Given the description of an element on the screen output the (x, y) to click on. 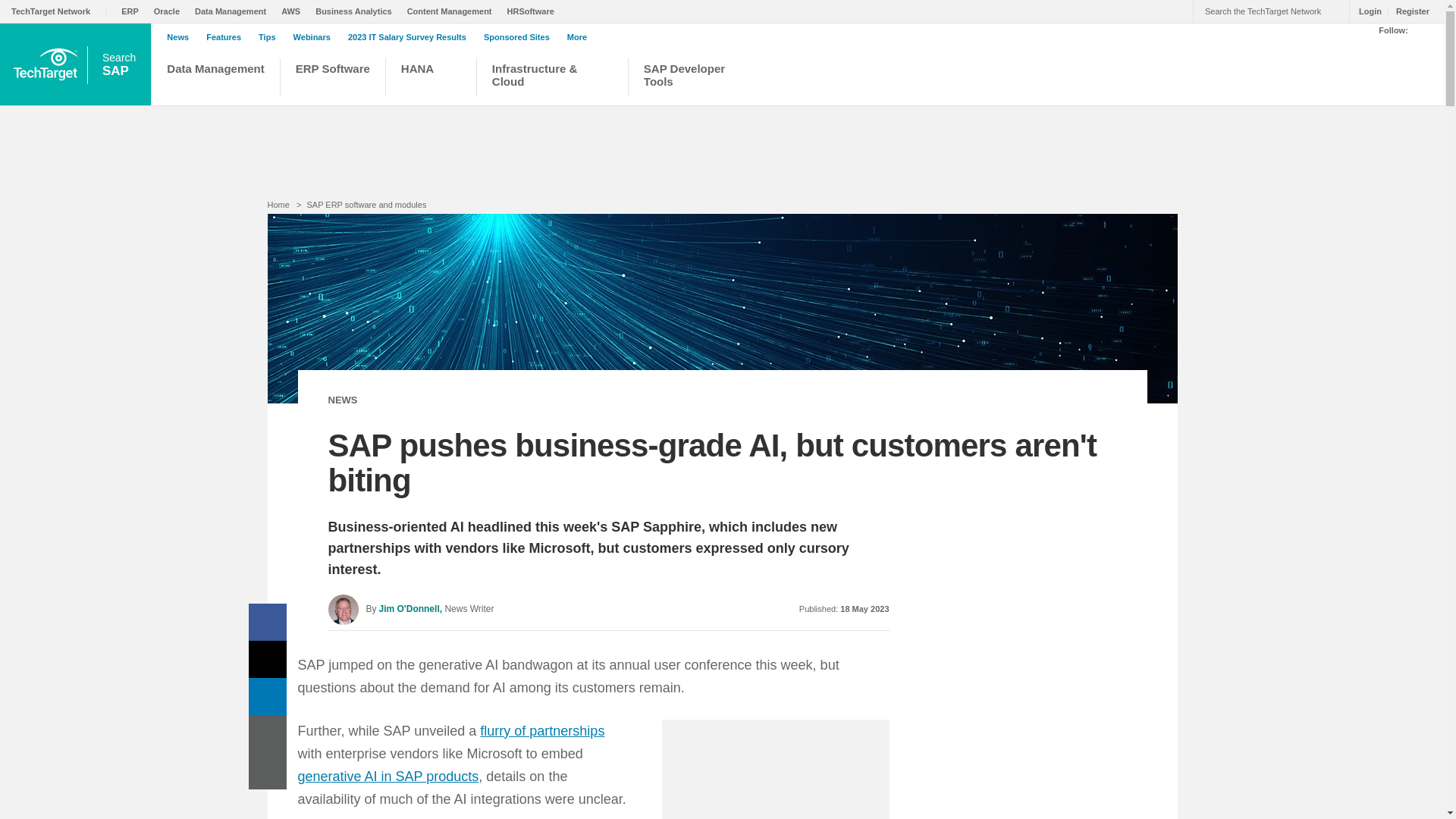
Share on X (267, 659)
HANA (431, 79)
HRSoftware (534, 10)
TechTarget Network (58, 10)
SAP Developer Tools (684, 79)
Content Management (453, 10)
Register (1408, 10)
ERP (133, 10)
Data Management (215, 79)
Webinars (315, 36)
